Given the description of an element on the screen output the (x, y) to click on. 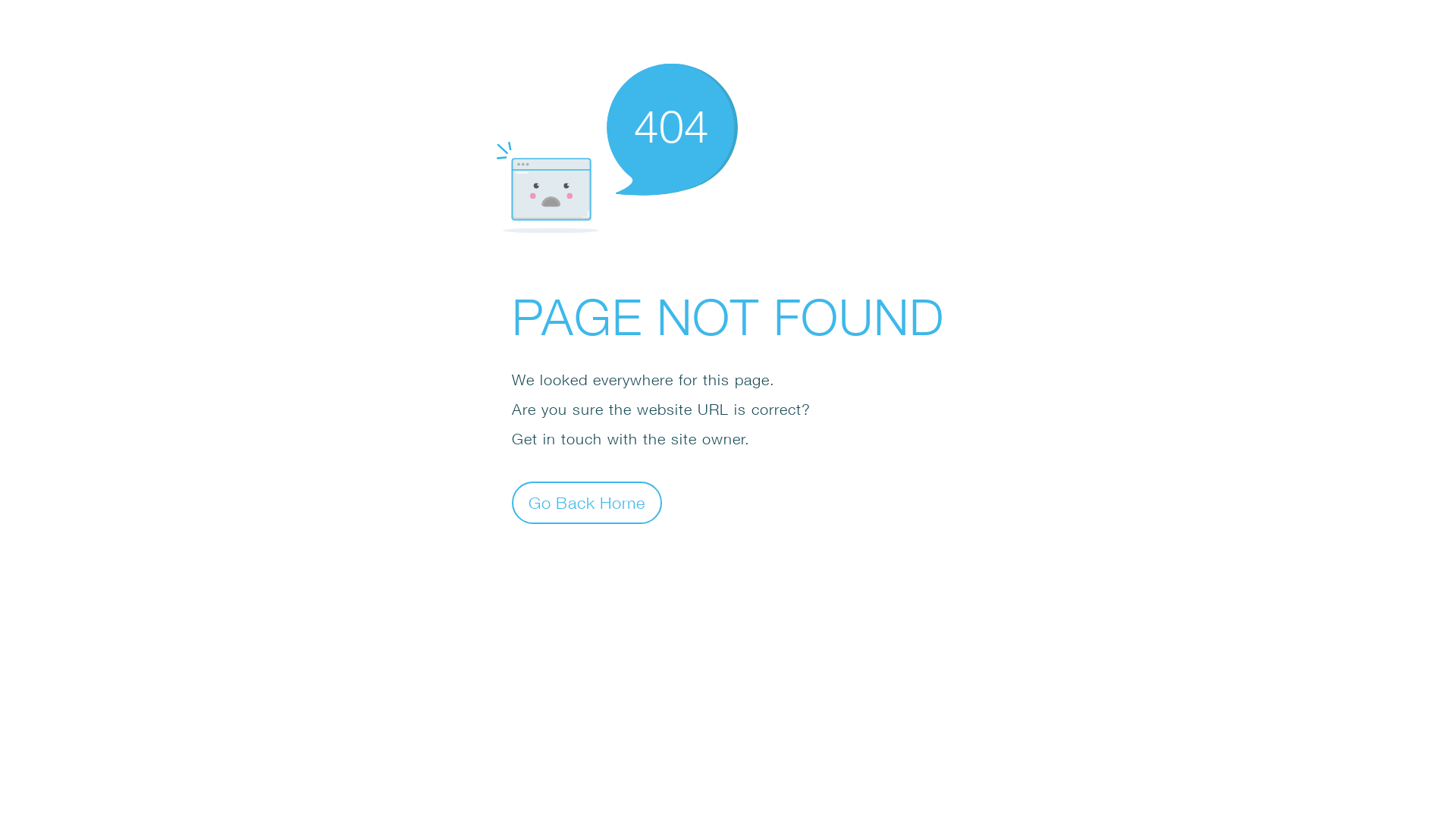
Go Back Home Element type: text (586, 502)
